Given the description of an element on the screen output the (x, y) to click on. 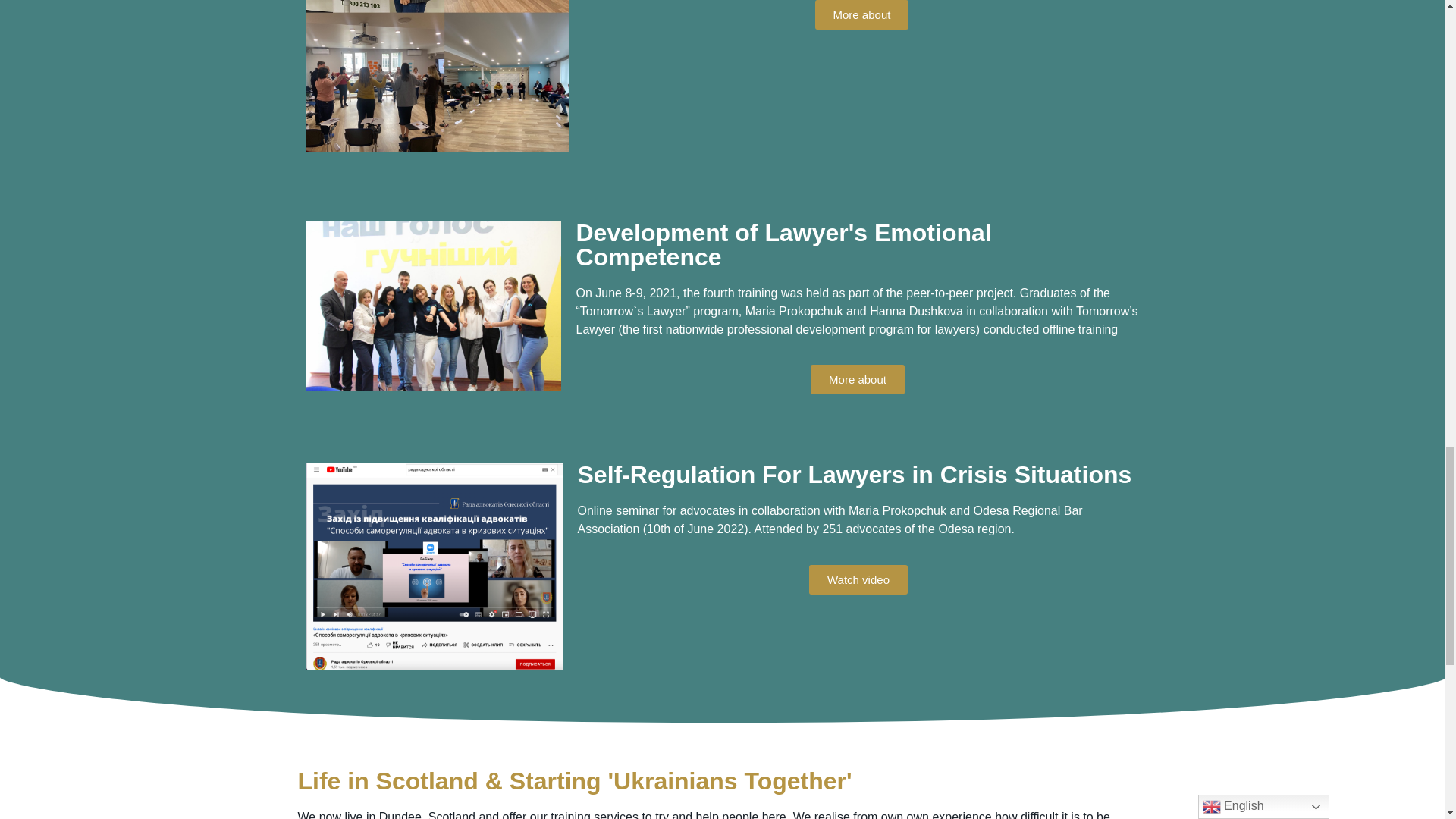
More about (861, 14)
Watch video (858, 579)
More about (857, 378)
